Given the description of an element on the screen output the (x, y) to click on. 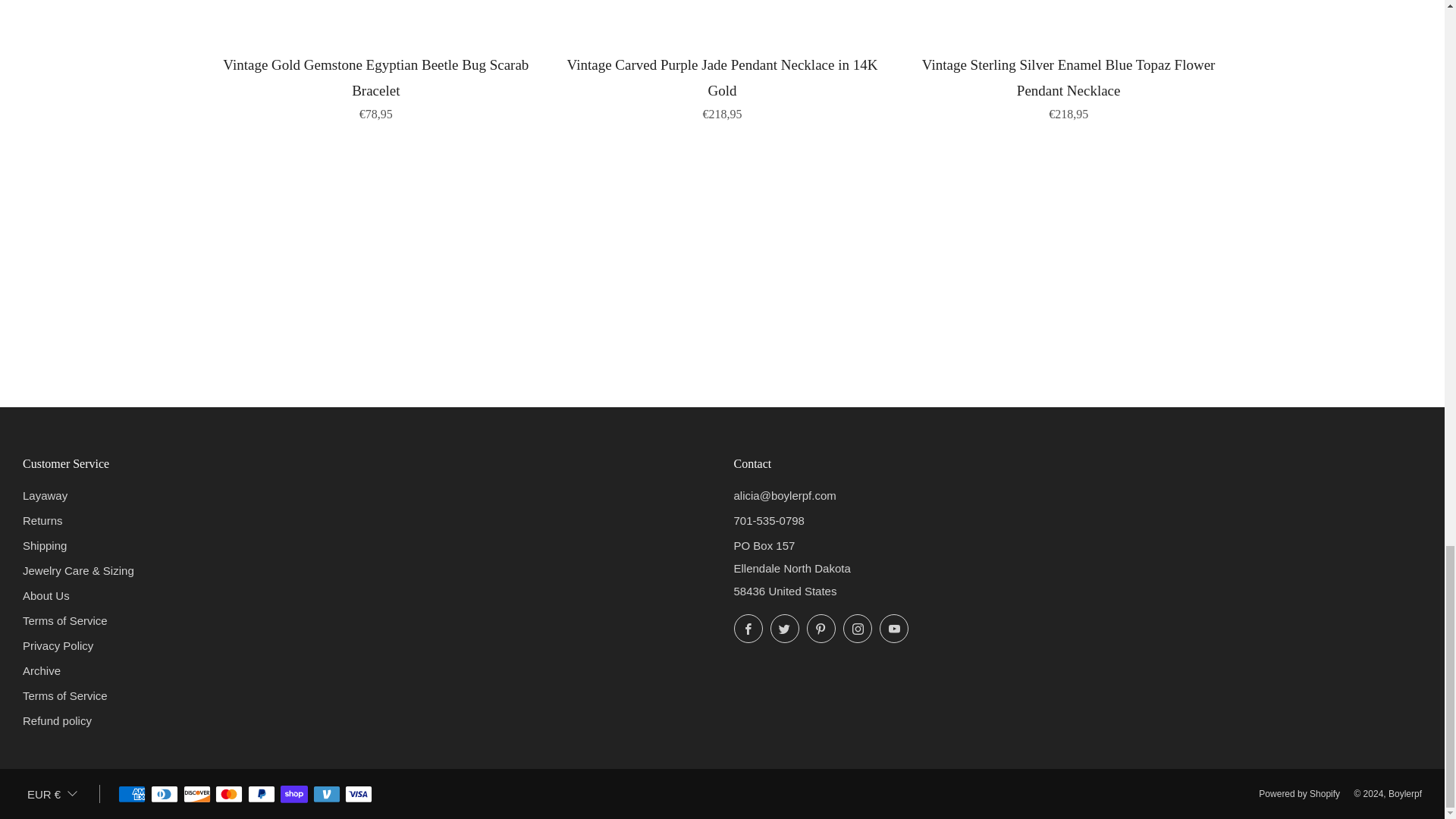
Vintage Gold Gemstone Egyptian Beetle Bug Scarab Bracelet (376, 86)
Vintage Carved Purple Jade Pendant Necklace in 14K Gold (721, 86)
